Given the description of an element on the screen output the (x, y) to click on. 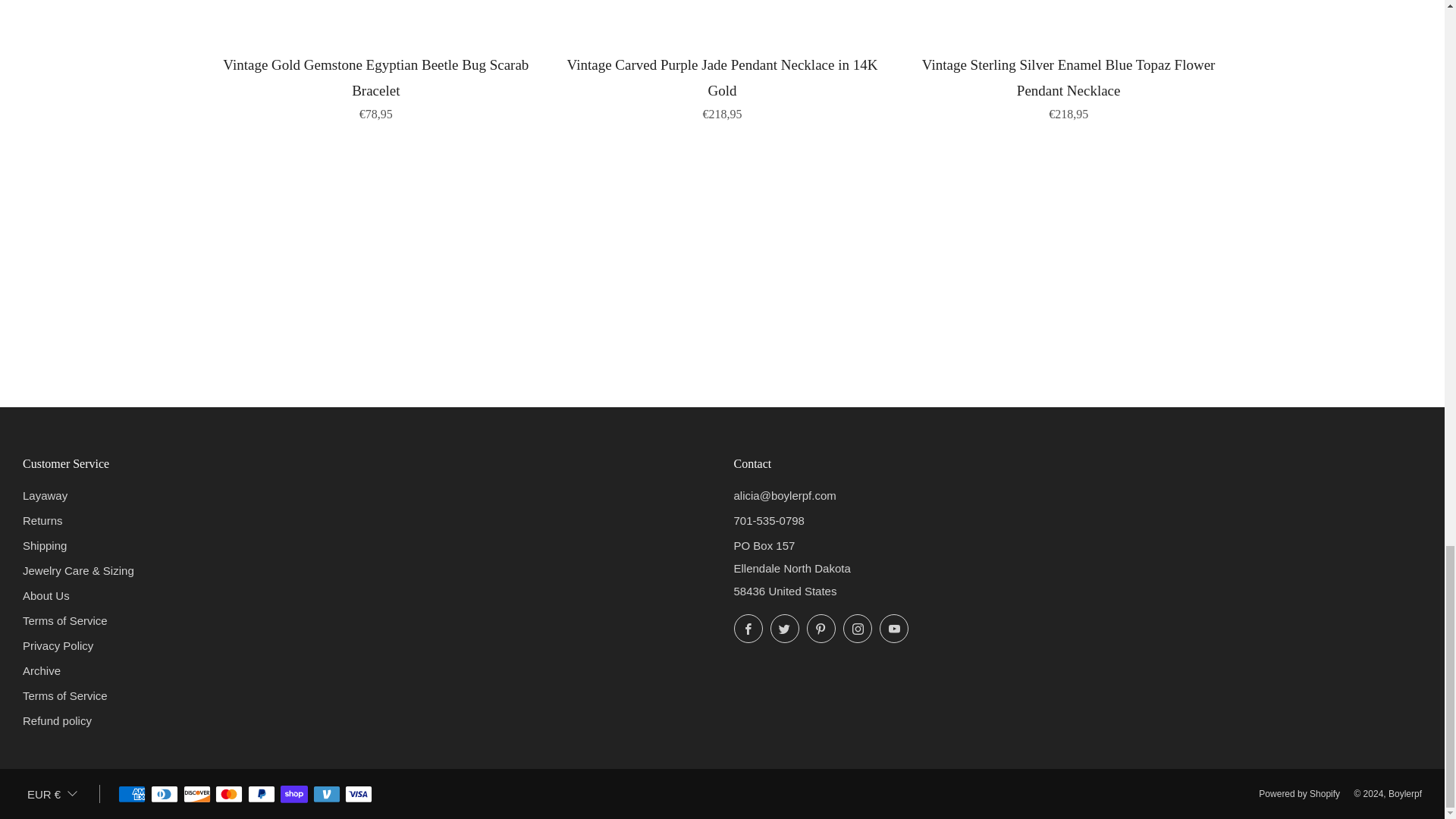
Vintage Gold Gemstone Egyptian Beetle Bug Scarab Bracelet (376, 86)
Vintage Carved Purple Jade Pendant Necklace in 14K Gold (721, 86)
